Given the description of an element on the screen output the (x, y) to click on. 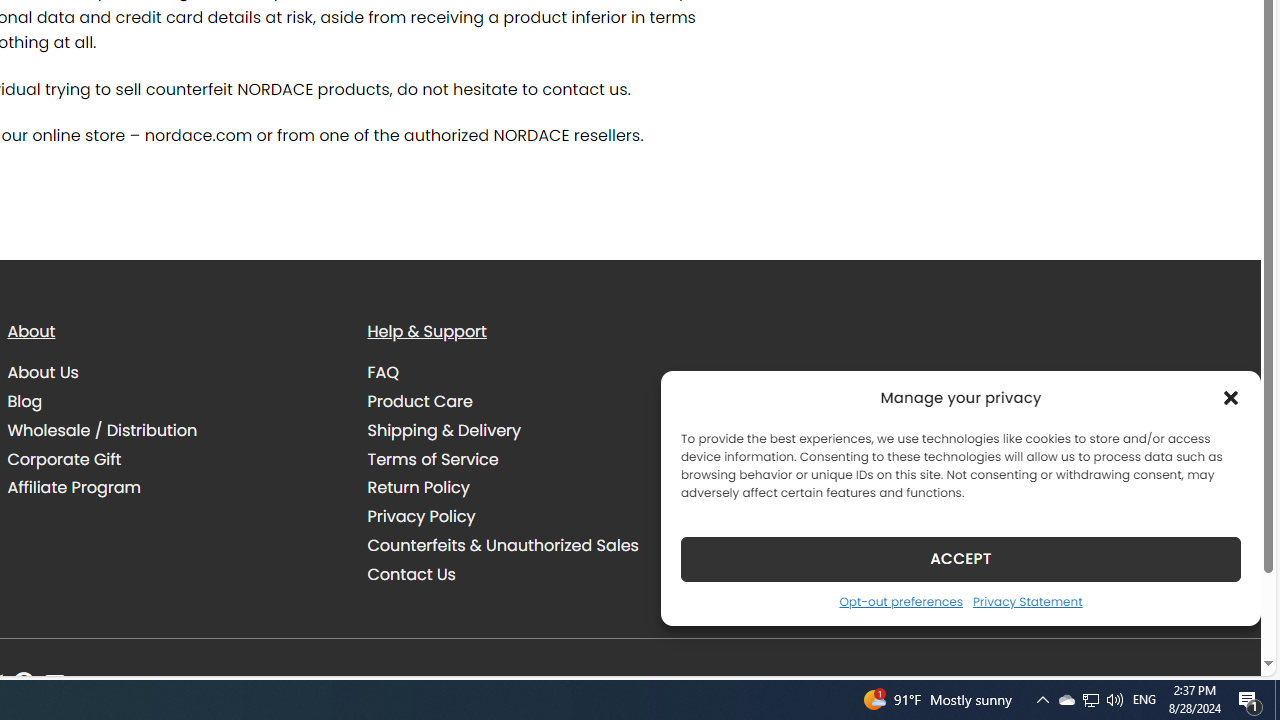
FAQ (532, 372)
Privacy Policy (421, 516)
FAQ (383, 372)
Go to top (1220, 647)
Return Policy (418, 487)
Privacy Policy (532, 516)
Affiliate Program (74, 487)
Follow on Pinterest (23, 683)
Contact Us (411, 574)
Counterfeits & Unauthorized Sales (532, 545)
Corporate Gift (171, 459)
Terms of Service (532, 459)
Affiliate Program (171, 488)
Product Care (532, 401)
Opt-out preferences (900, 601)
